Given the description of an element on the screen output the (x, y) to click on. 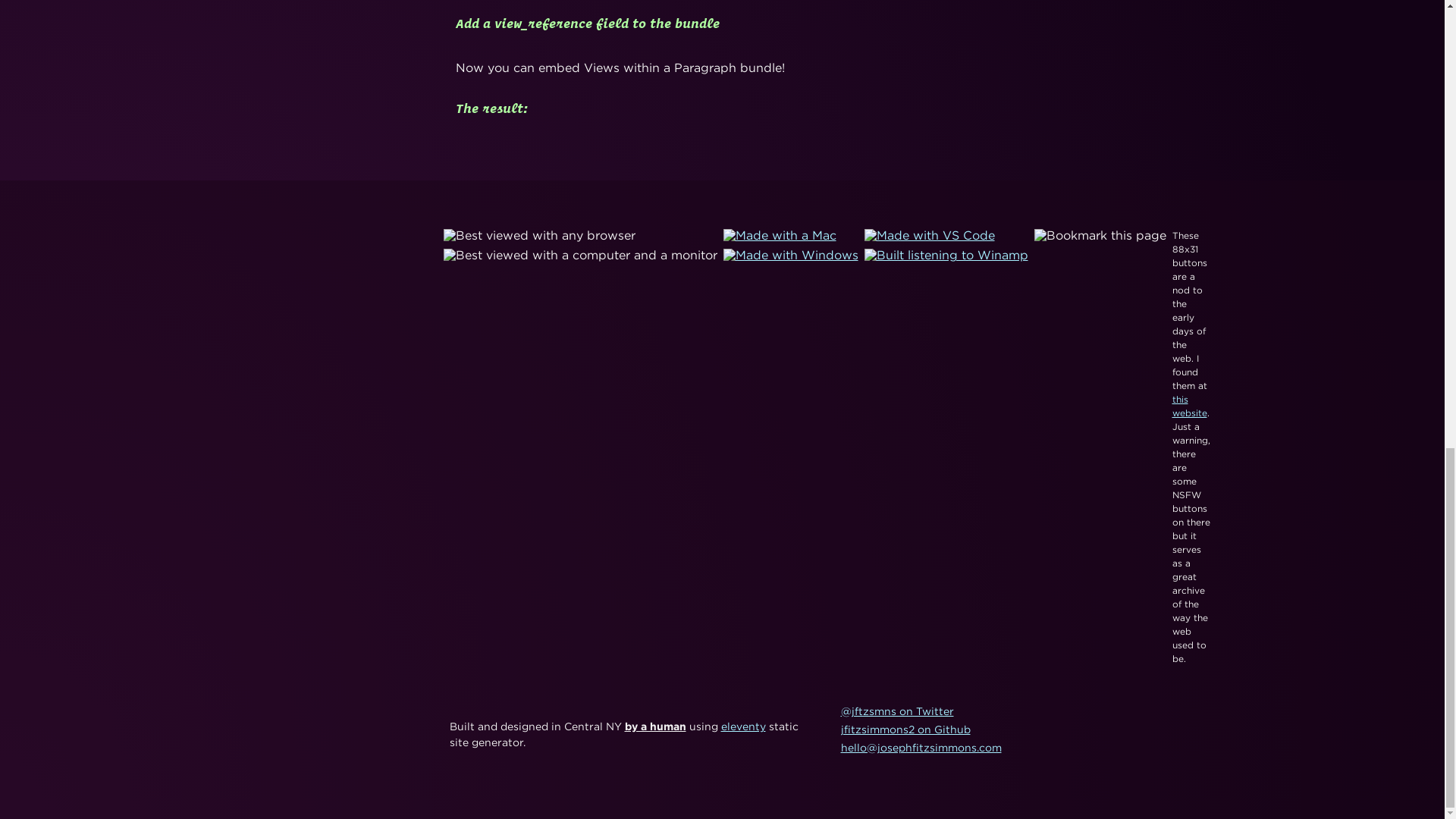
this website (1189, 405)
eleventy (742, 726)
jfitzsimmons2 on Github (904, 729)
